Given the description of an element on the screen output the (x, y) to click on. 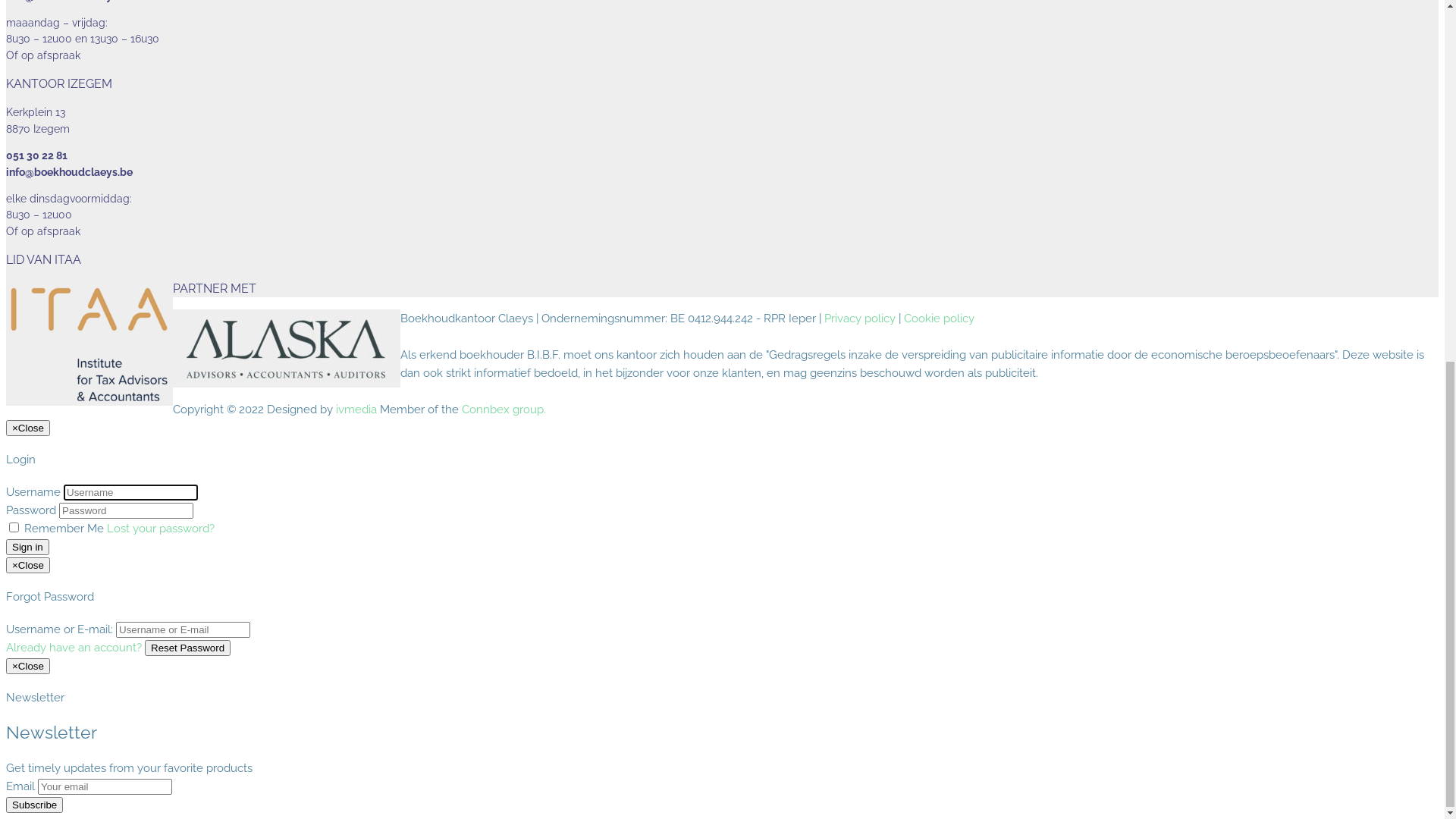
January 27, 2022 Element type: text (48, 506)
Over ons Element type: text (58, 210)
vacature-01 Element type: hover (271, 435)
Contacteer ons Element type: text (76, 62)
Search Element type: text (165, 92)
Skip to main content Element type: text (60, 14)
Boekhoudkantoor Claeys Element type: text (316, 181)
WIJZIGING IN ONZE KANTOORUREN Element type: text (156, 470)
Toggle navigation Element type: text (51, 129)
info@boekhoudclaeys.be Element type: text (69, 641)
Contacteer ons Element type: text (74, 228)
Over ons Element type: text (59, 44)
Close Element type: text (24, 111)
Read More Element type: text (34, 524)
